Given the description of an element on the screen output the (x, y) to click on. 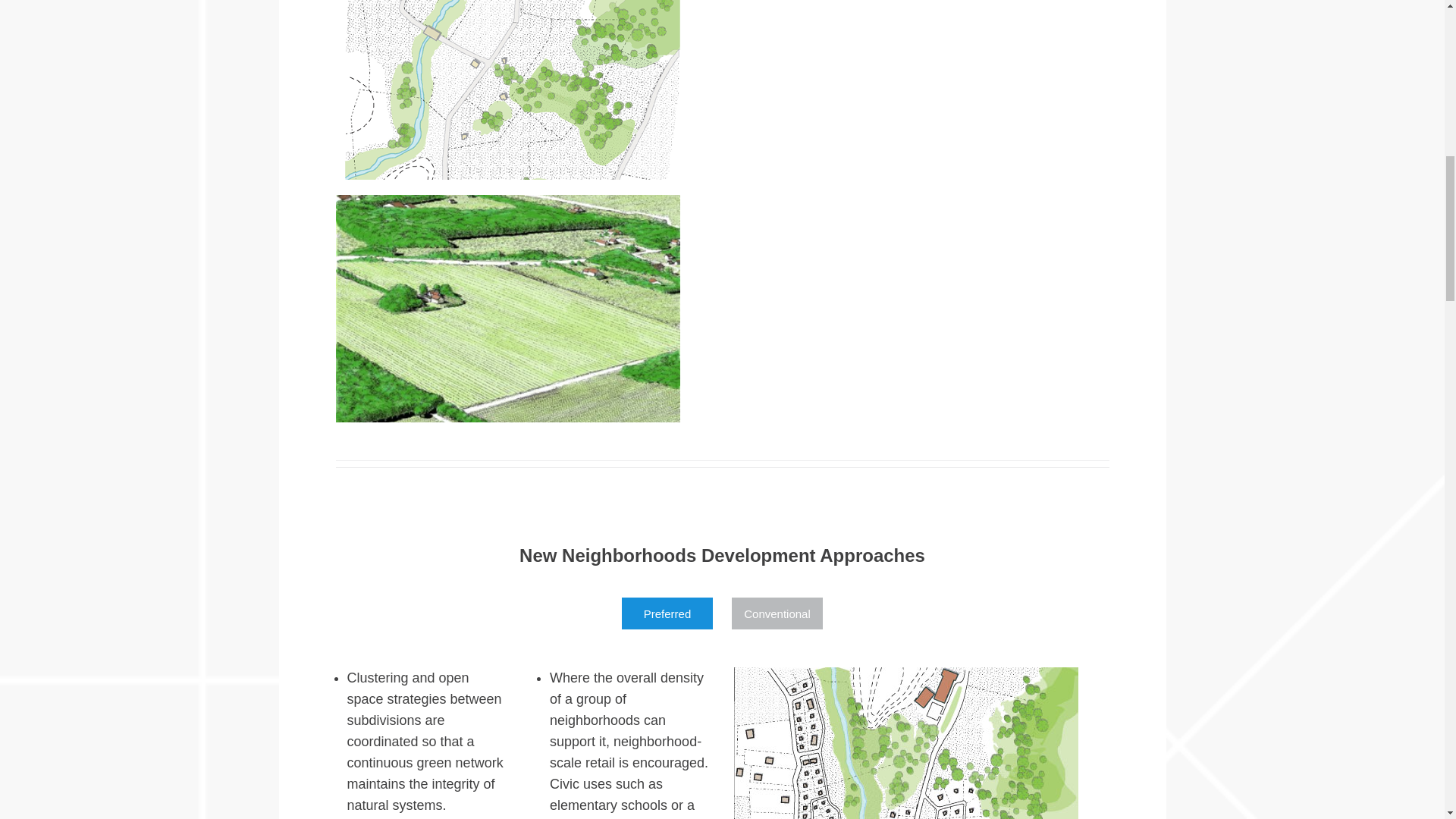
Preferred (667, 613)
Conventional (777, 613)
Source: RPA (905, 743)
Source: RPA (506, 89)
